Given the description of an element on the screen output the (x, y) to click on. 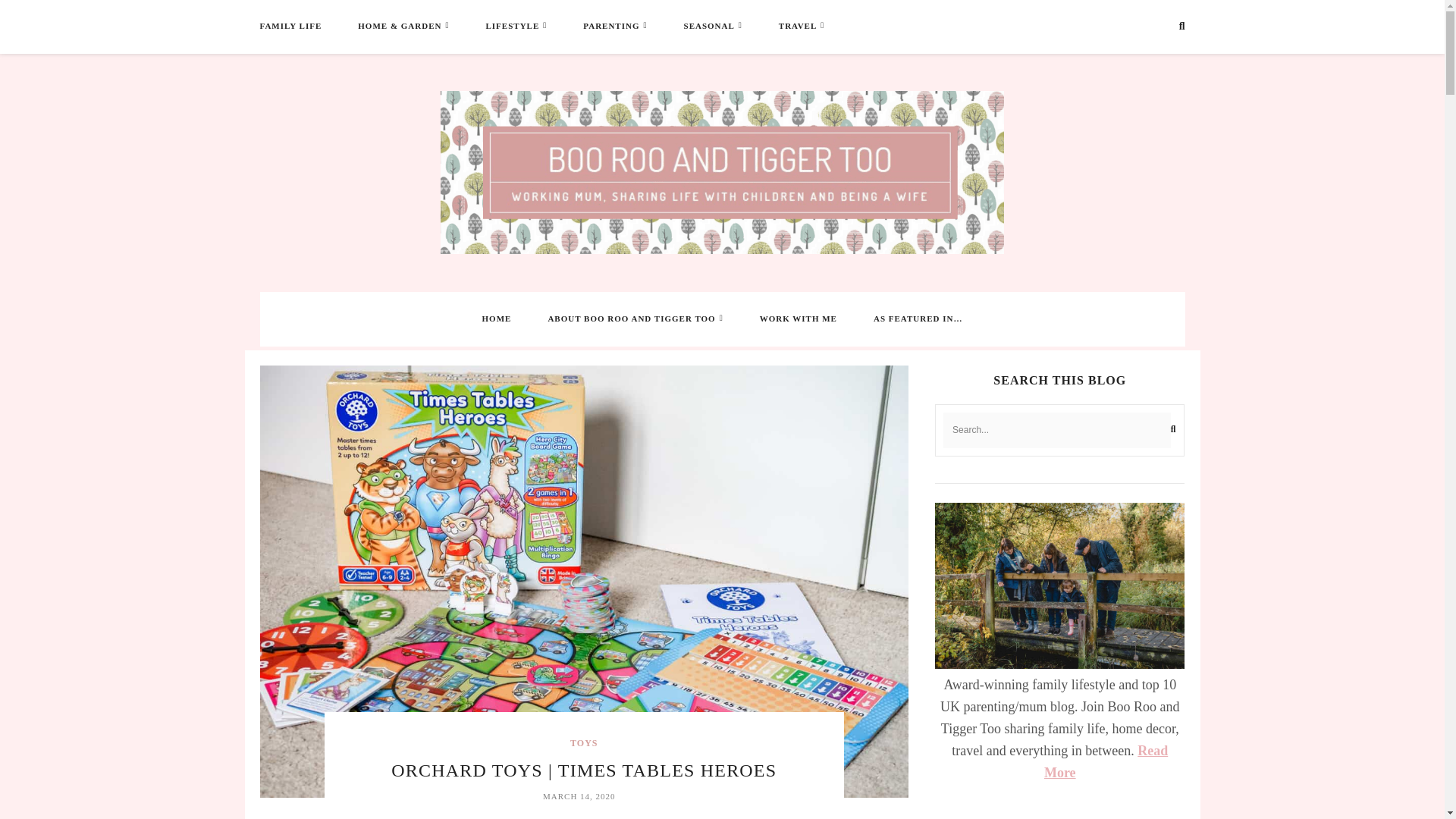
FAMILY LIFE (290, 25)
LIFESTYLE (511, 25)
PARENTING (611, 25)
SEASONAL (709, 25)
